Given the description of an element on the screen output the (x, y) to click on. 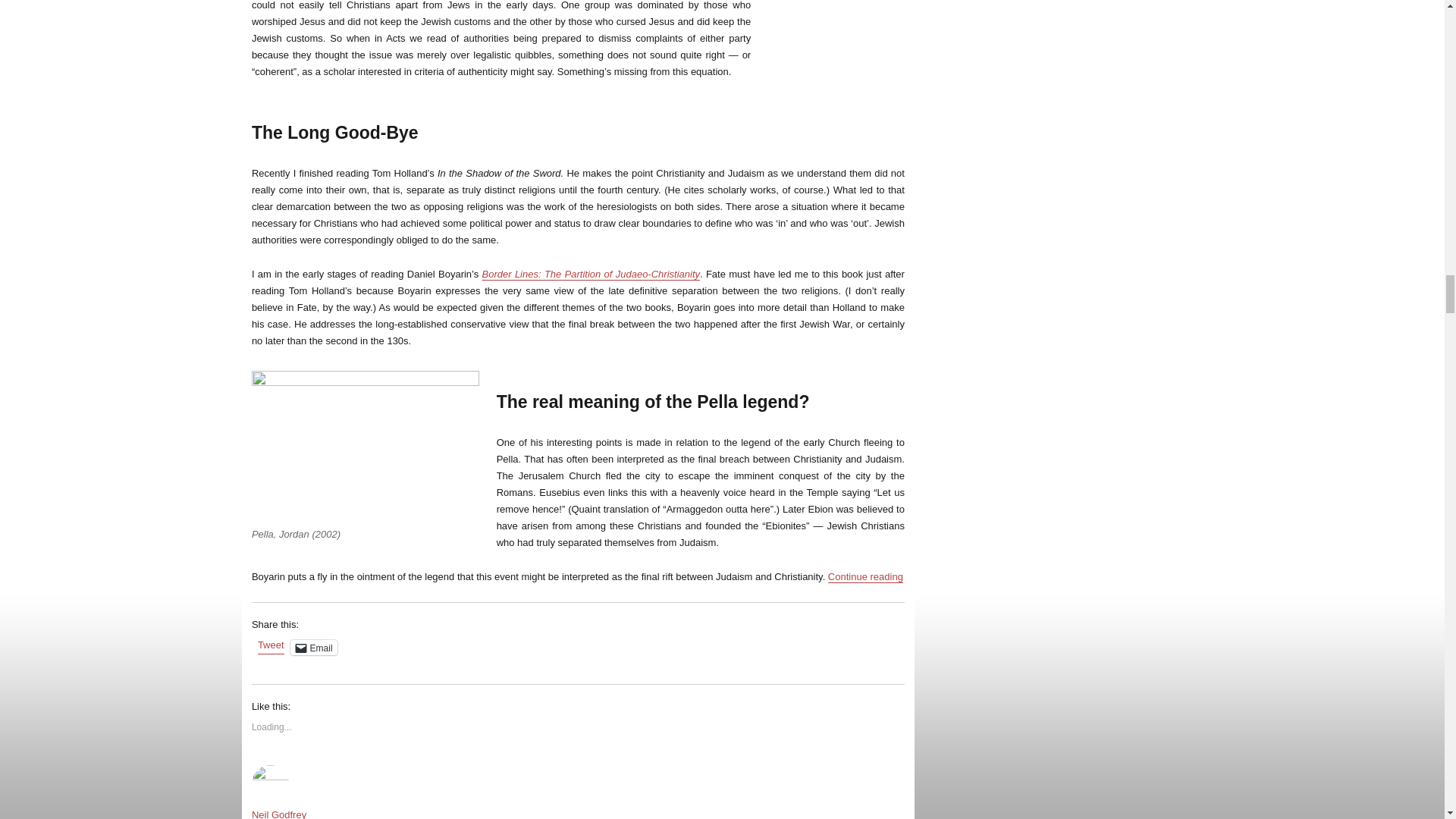
Click to email a link to a friend (313, 647)
Cover of "Border Lines: The Partition of ... (836, 55)
